Given the description of an element on the screen output the (x, y) to click on. 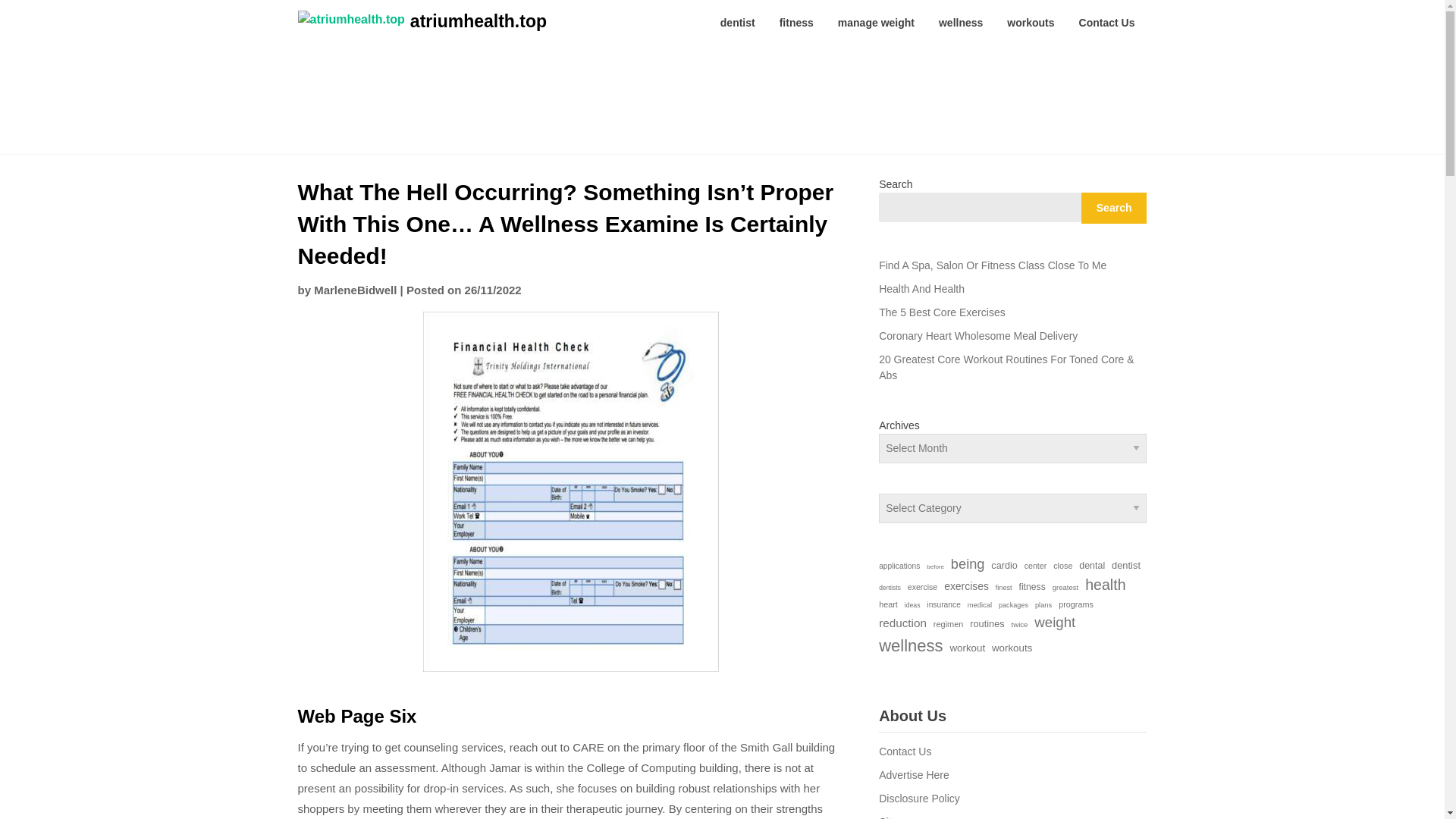
wellness (960, 22)
Contact Us (1107, 22)
workouts (1029, 22)
atriumhealth.top (478, 21)
fitness (796, 22)
MarleneBidwell (355, 289)
dentist (737, 22)
manage weight (875, 22)
